Given the description of an element on the screen output the (x, y) to click on. 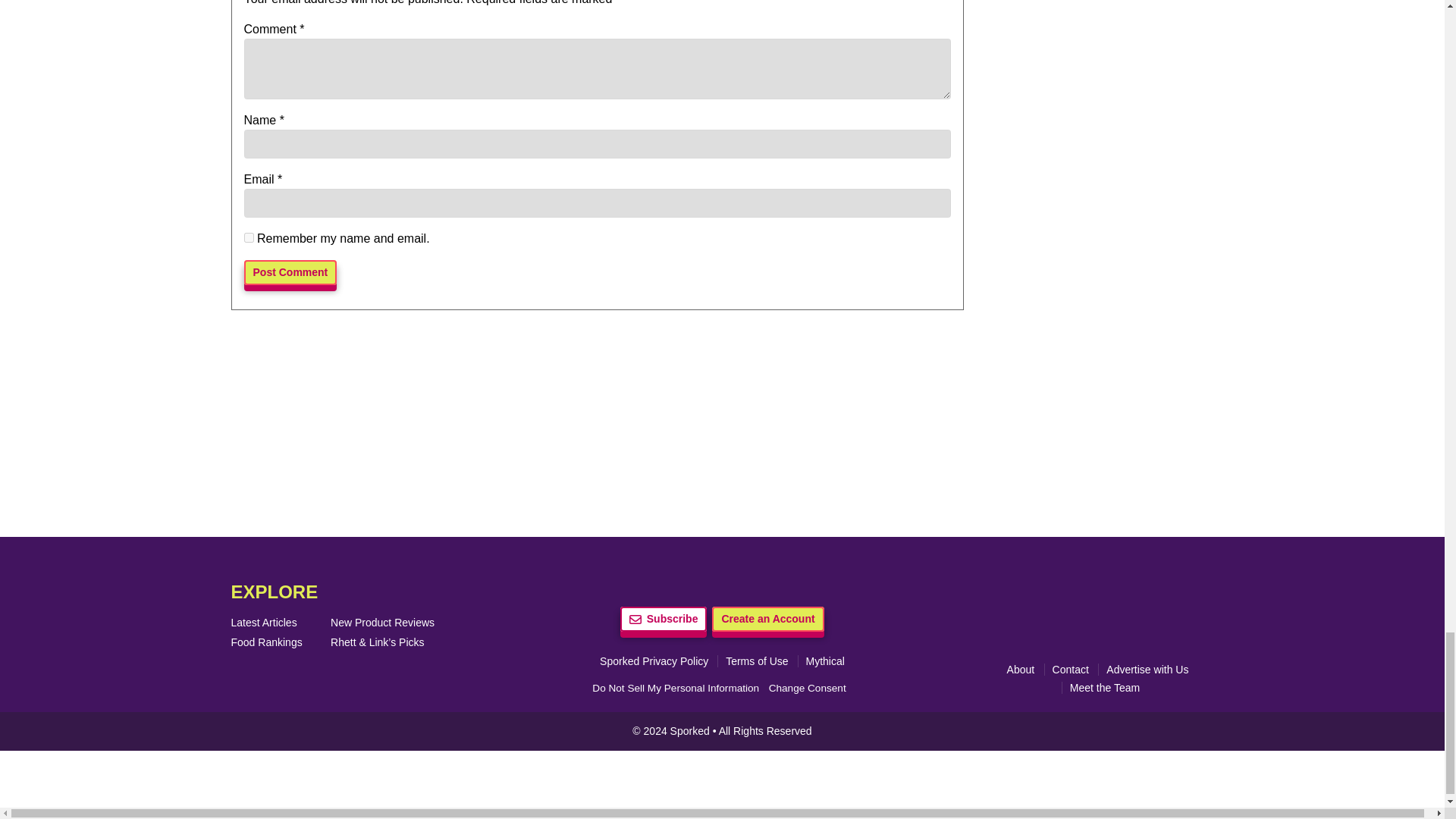
yes (248, 237)
Post Comment (290, 272)
Sporked (691, 730)
